Given the description of an element on the screen output the (x, y) to click on. 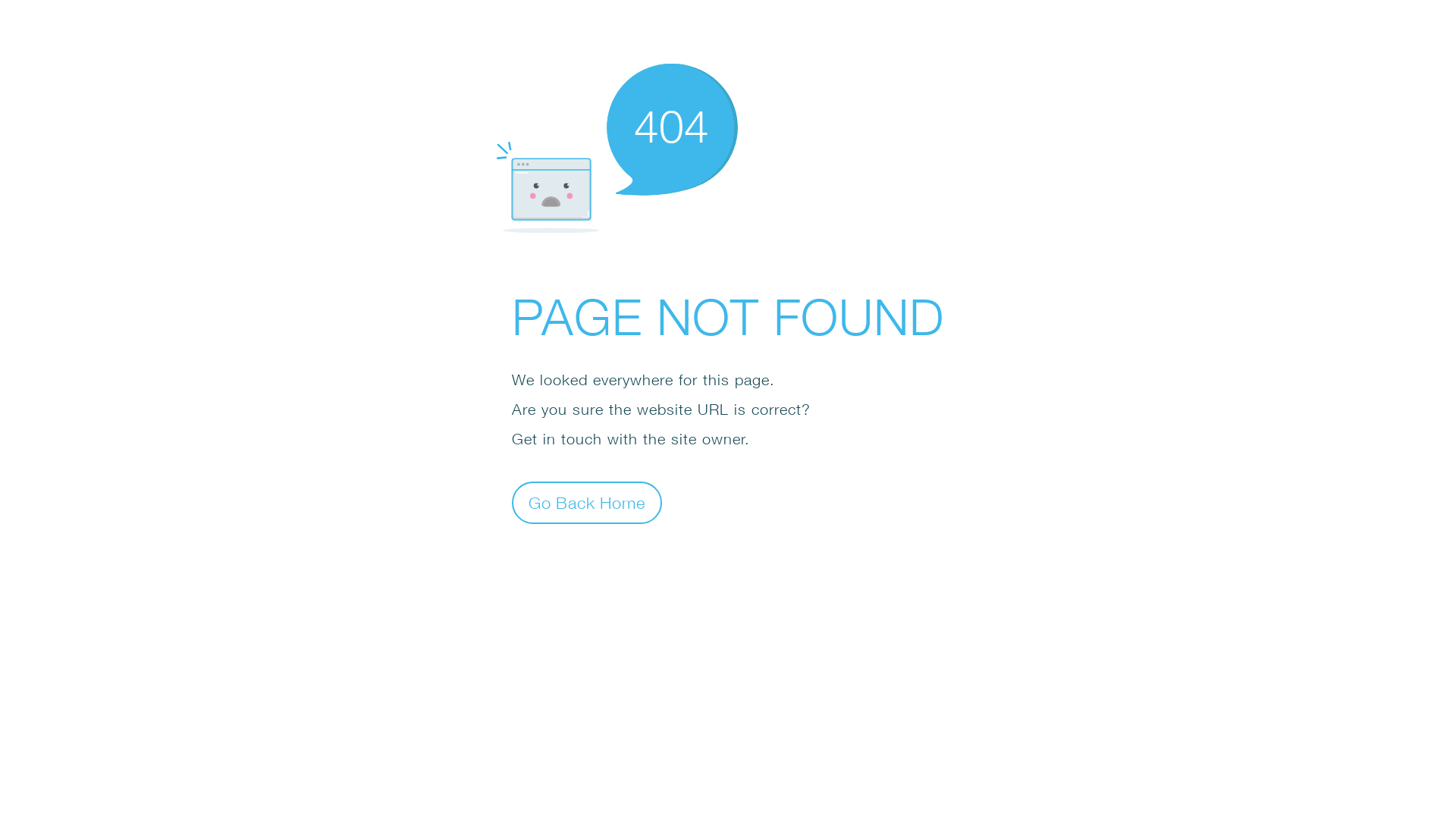
Go Back Home Element type: text (586, 502)
